Given the description of an element on the screen output the (x, y) to click on. 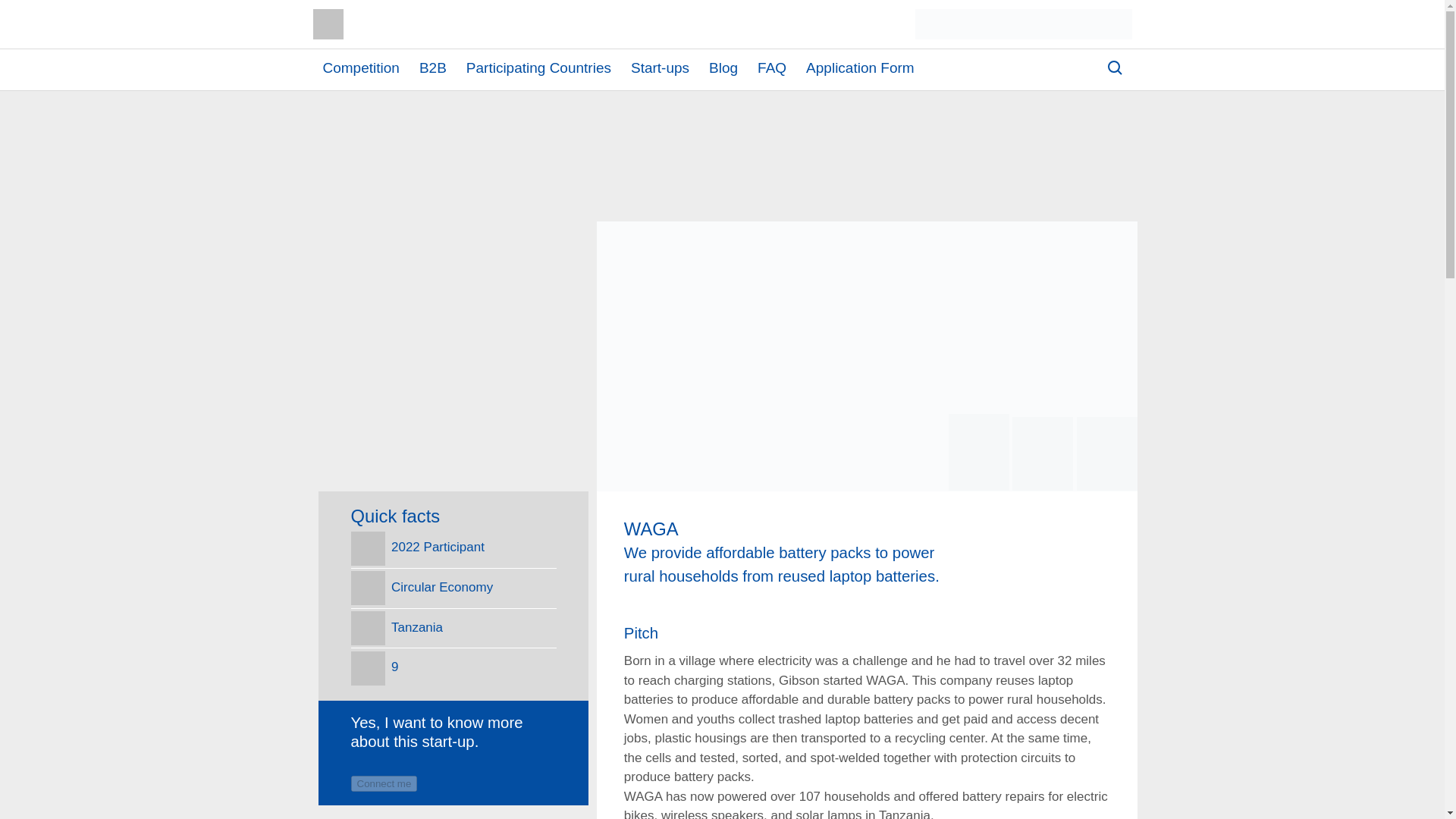
Participating Countries (538, 69)
Competition (361, 69)
Search (1100, 73)
FAQ (771, 69)
Blog (723, 69)
Connect me (383, 783)
B2B (432, 69)
Application Form (859, 69)
Start-ups (659, 69)
